Given the description of an element on the screen output the (x, y) to click on. 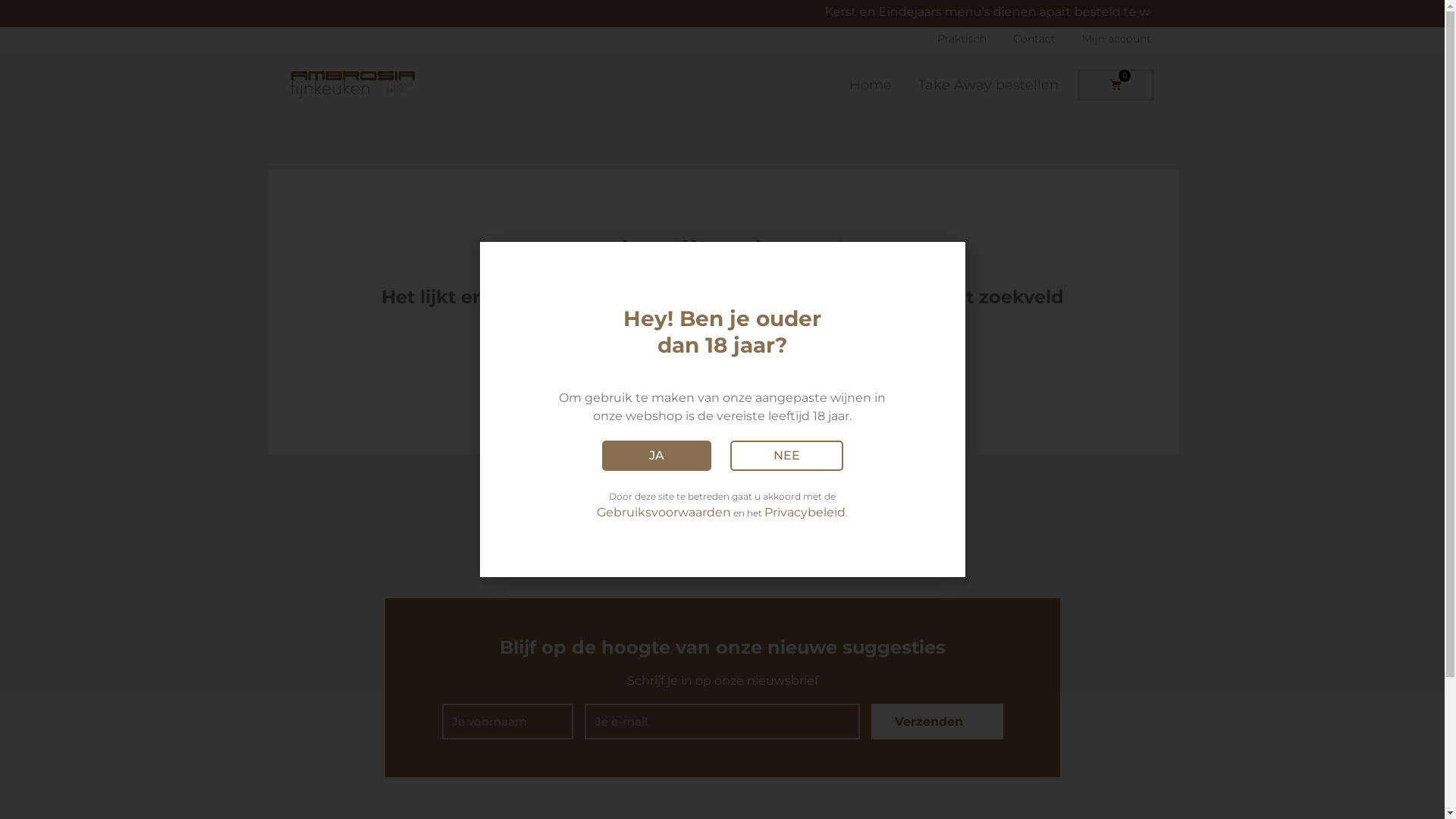
Take Away bestellen Element type: text (988, 84)
JA Element type: text (656, 455)
NEE Element type: text (785, 455)
Contact Element type: text (1034, 38)
Praktisch Element type: text (961, 38)
Home Element type: text (870, 84)
0
CART Element type: text (1115, 84)
Gebruiksvoorwaarden Element type: text (663, 512)
Mijn account Element type: text (1115, 38)
Privacybeleid Element type: text (804, 512)
Zoeken Element type: text (845, 360)
Verzenden Element type: text (937, 721)
